Given the description of an element on the screen output the (x, y) to click on. 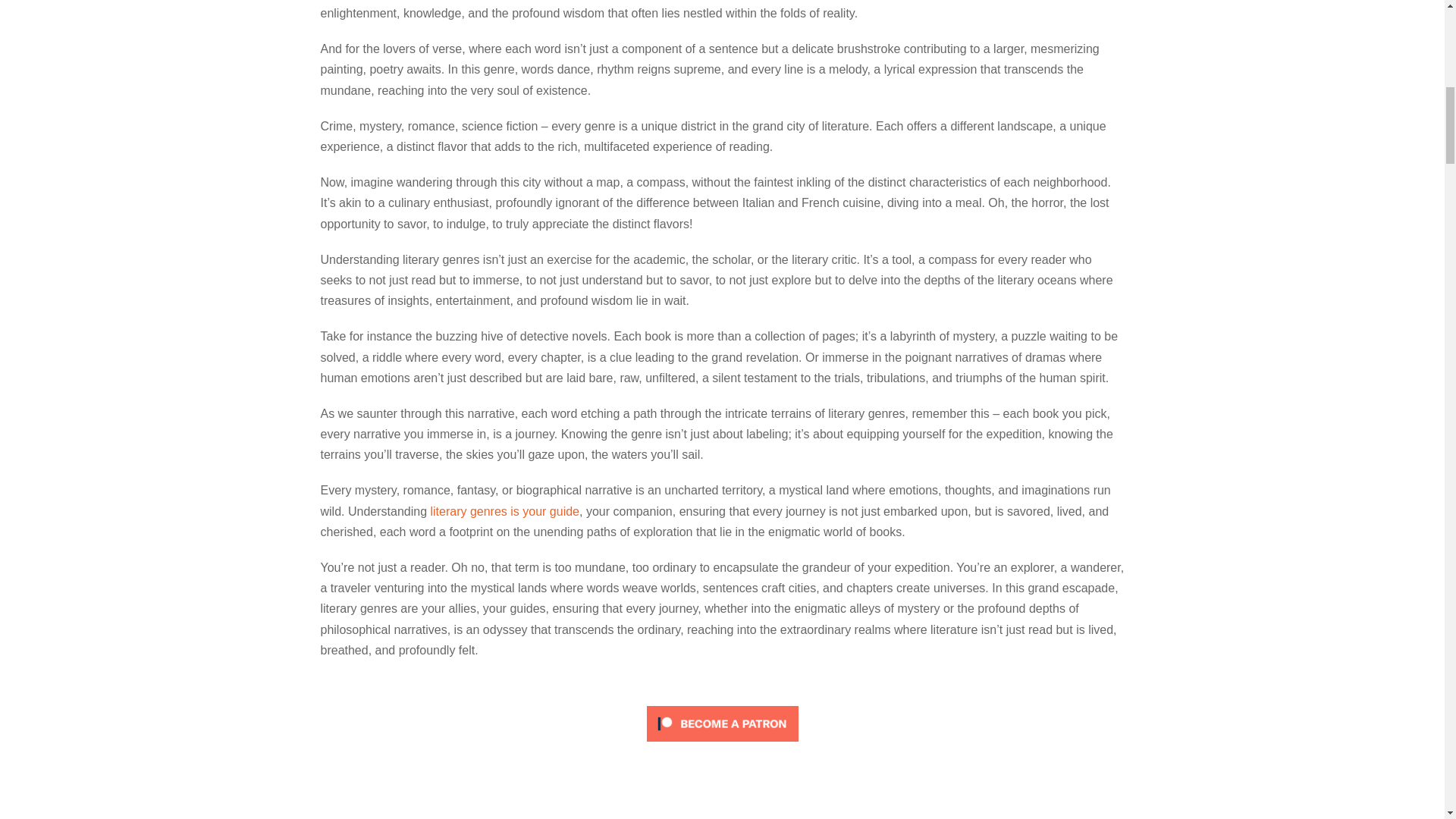
literary genres is your guide (504, 511)
